Given the description of an element on the screen output the (x, y) to click on. 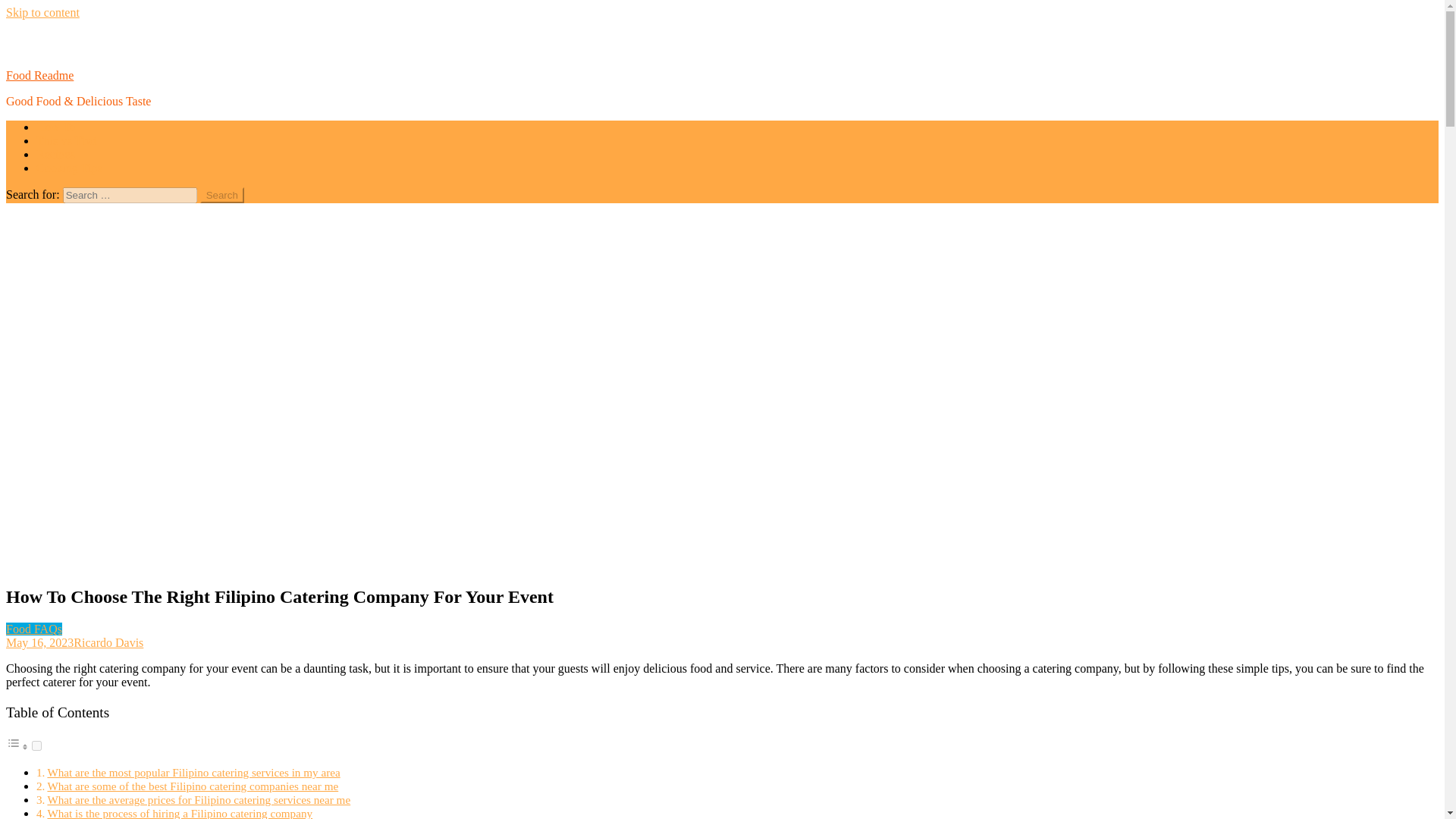
May 16, 2023 (39, 642)
Recipes (55, 154)
Food FAQs (33, 628)
Search (222, 195)
Skip to content (42, 11)
Search (222, 195)
Ricardo Davis (108, 642)
